Given the description of an element on the screen output the (x, y) to click on. 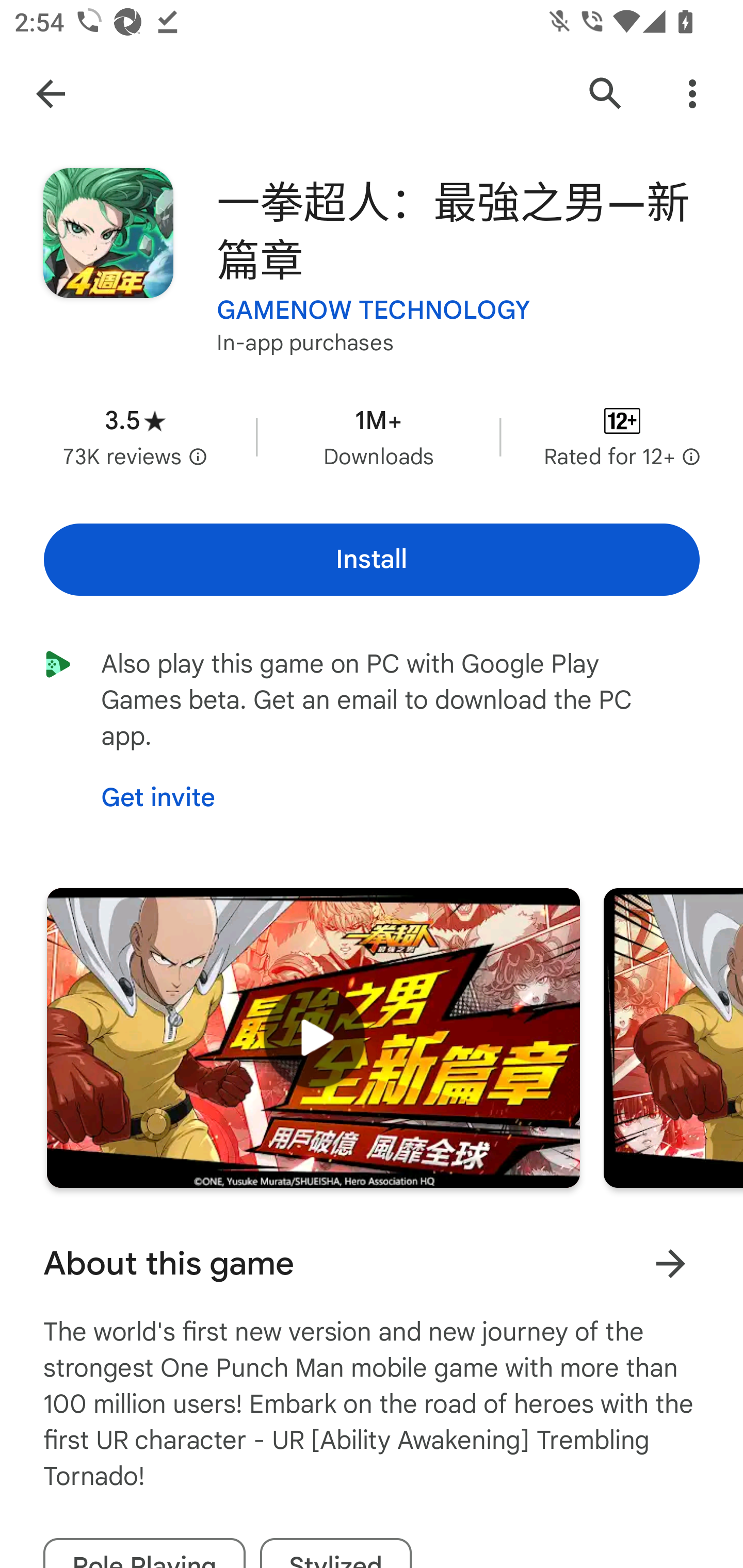
Navigate up (50, 93)
Search Google Play (605, 93)
More Options (692, 93)
GAMENOW TECHNOLOGY (373, 310)
Average rating 3.5 stars in 73 thousand reviews (135, 436)
Content rating Rated for 12+ (622, 436)
Install (371, 559)
Get invite (158, 798)
Play trailer for "一拳超人：最強之男—新篇章" (313, 1037)
About this game Learn more About this game (371, 1263)
Learn more About this game (670, 1263)
